Given the description of an element on the screen output the (x, y) to click on. 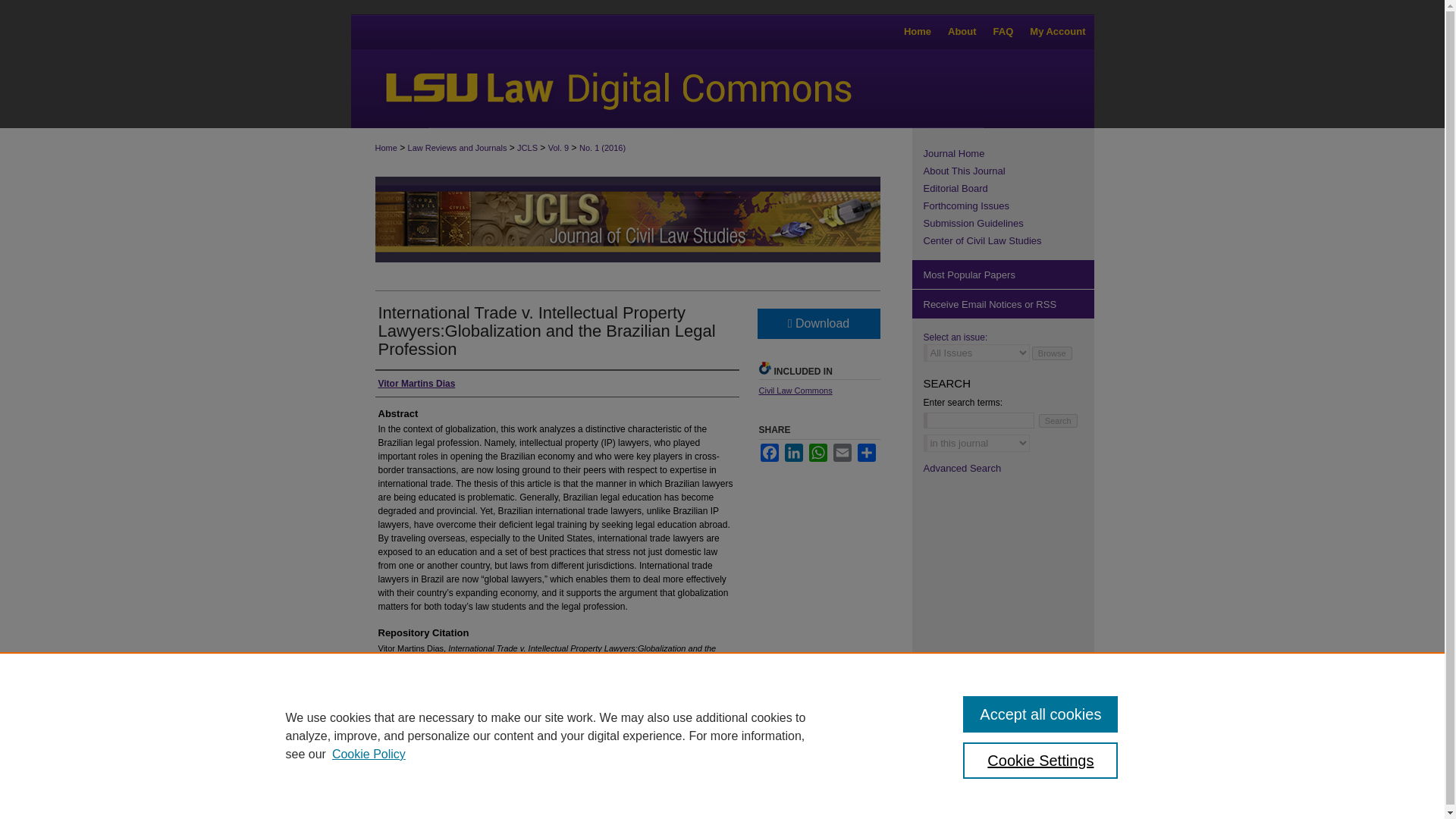
Email (841, 452)
Forthcoming Issues (1008, 205)
Journal of Civil Law Studies (1008, 153)
My Account (1057, 31)
Advanced Search (962, 468)
FAQ (1003, 31)
Forthcoming Issues (1008, 205)
Browse (1051, 353)
Most Popular Papers (1002, 274)
Editorial Board (1008, 188)
Editorial Board (1008, 188)
Home (917, 31)
Browse (1051, 353)
About (962, 31)
